Given the description of an element on the screen output the (x, y) to click on. 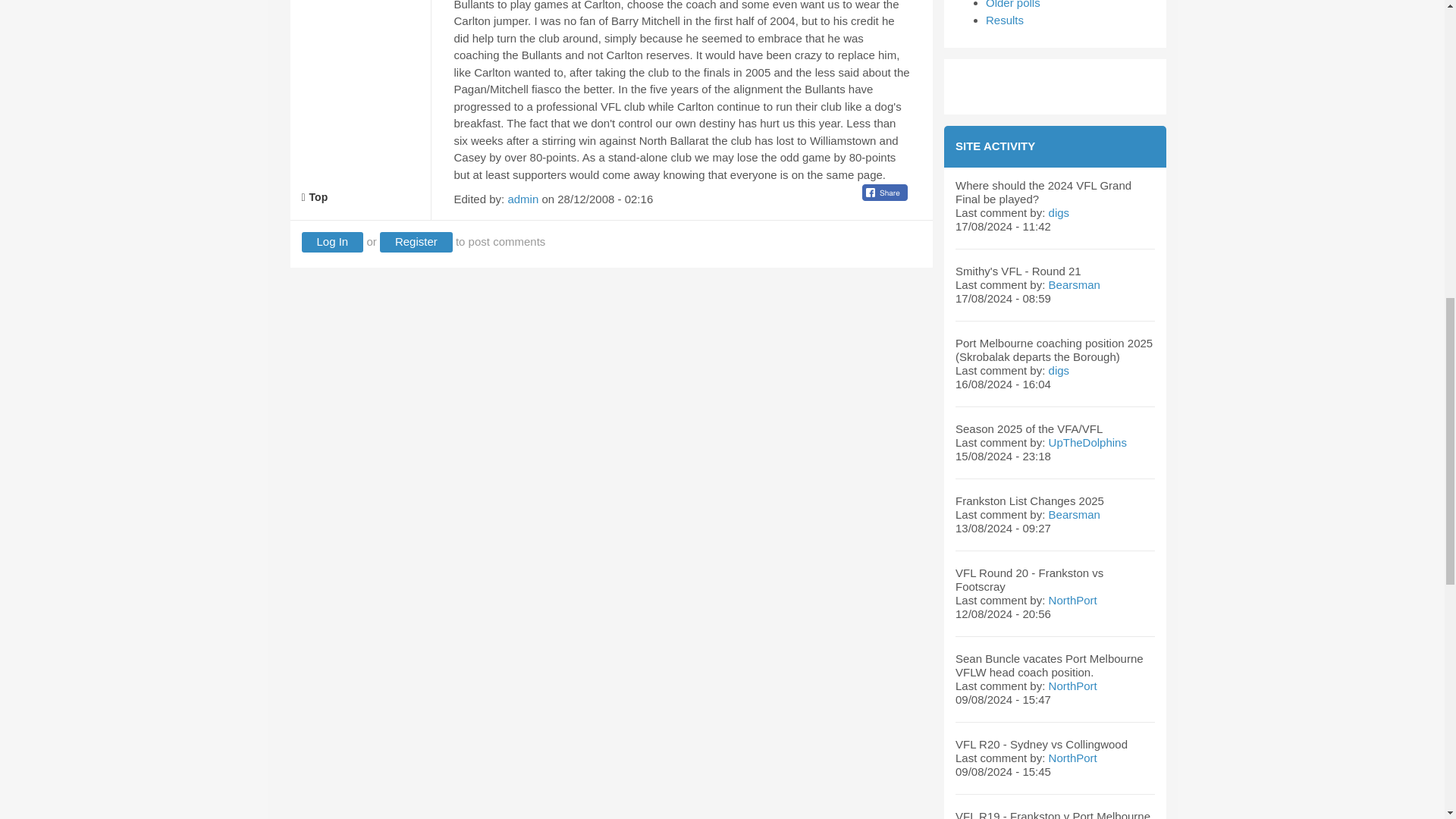
Where should the 2024 VFL Grand Final be played? (1043, 192)
Older polls (1013, 4)
Log In (332, 241)
View the current poll results. (1004, 19)
Top (315, 196)
View the list of polls on this site. (1013, 4)
Jump to top of page (315, 196)
VFL Round 20 - Frankston vs Footscray (1029, 578)
Frankston List Changes 2025 (1029, 500)
Register (416, 241)
